Given the description of an element on the screen output the (x, y) to click on. 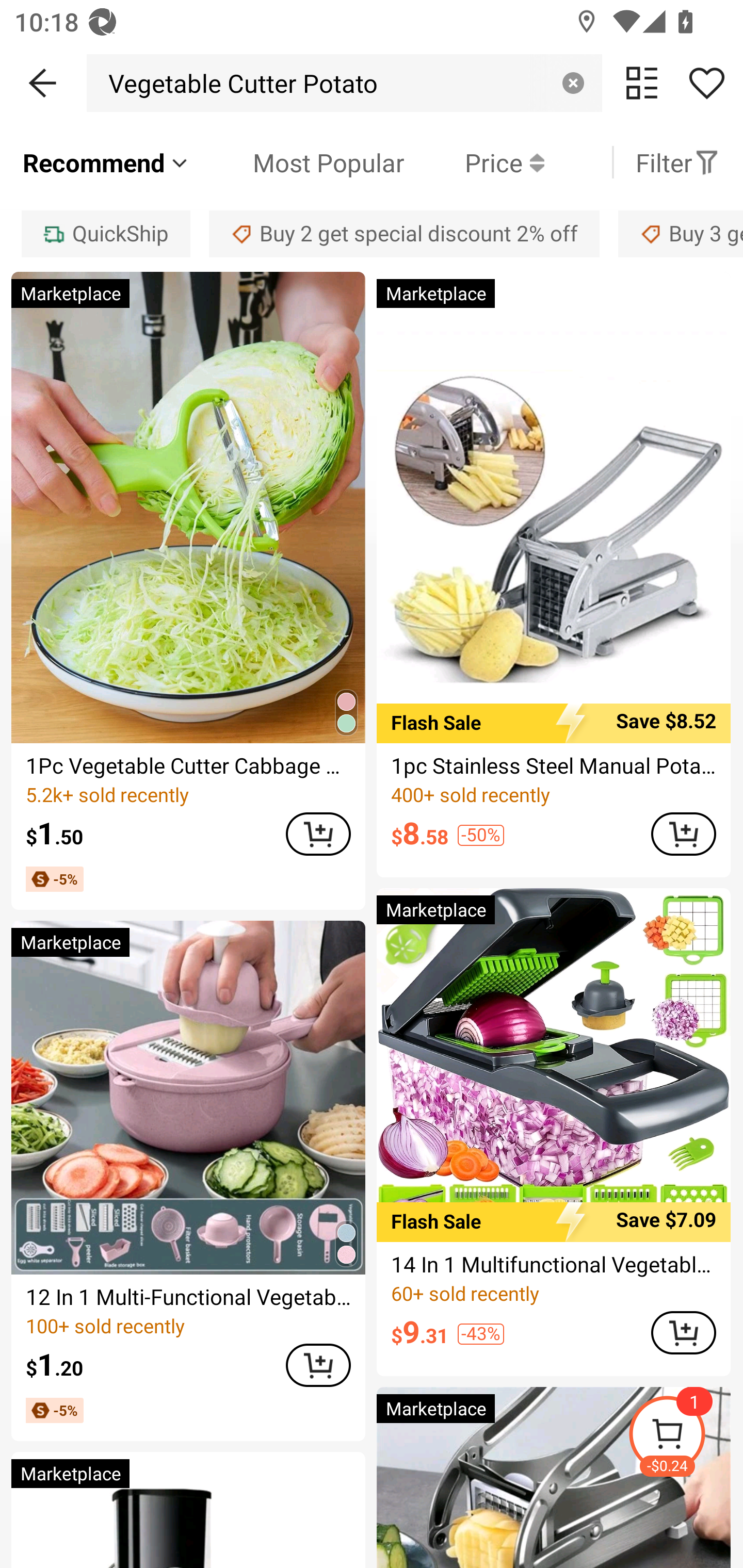
Vegetable Cutter Potato (237, 82)
Clear (572, 82)
change view (641, 82)
Share (706, 82)
Recommend (106, 162)
Most Popular (297, 162)
Price (474, 162)
Filter (677, 162)
QuickShip (105, 233)
Buy 2 get special discount 2% off (403, 233)
Buy 3 get special discount 1% off (680, 233)
ADD TO CART (318, 834)
ADD TO CART (683, 834)
ADD TO CART (683, 1332)
ADD TO CART (318, 1365)
-$0.24 (685, 1436)
